Given the description of an element on the screen output the (x, y) to click on. 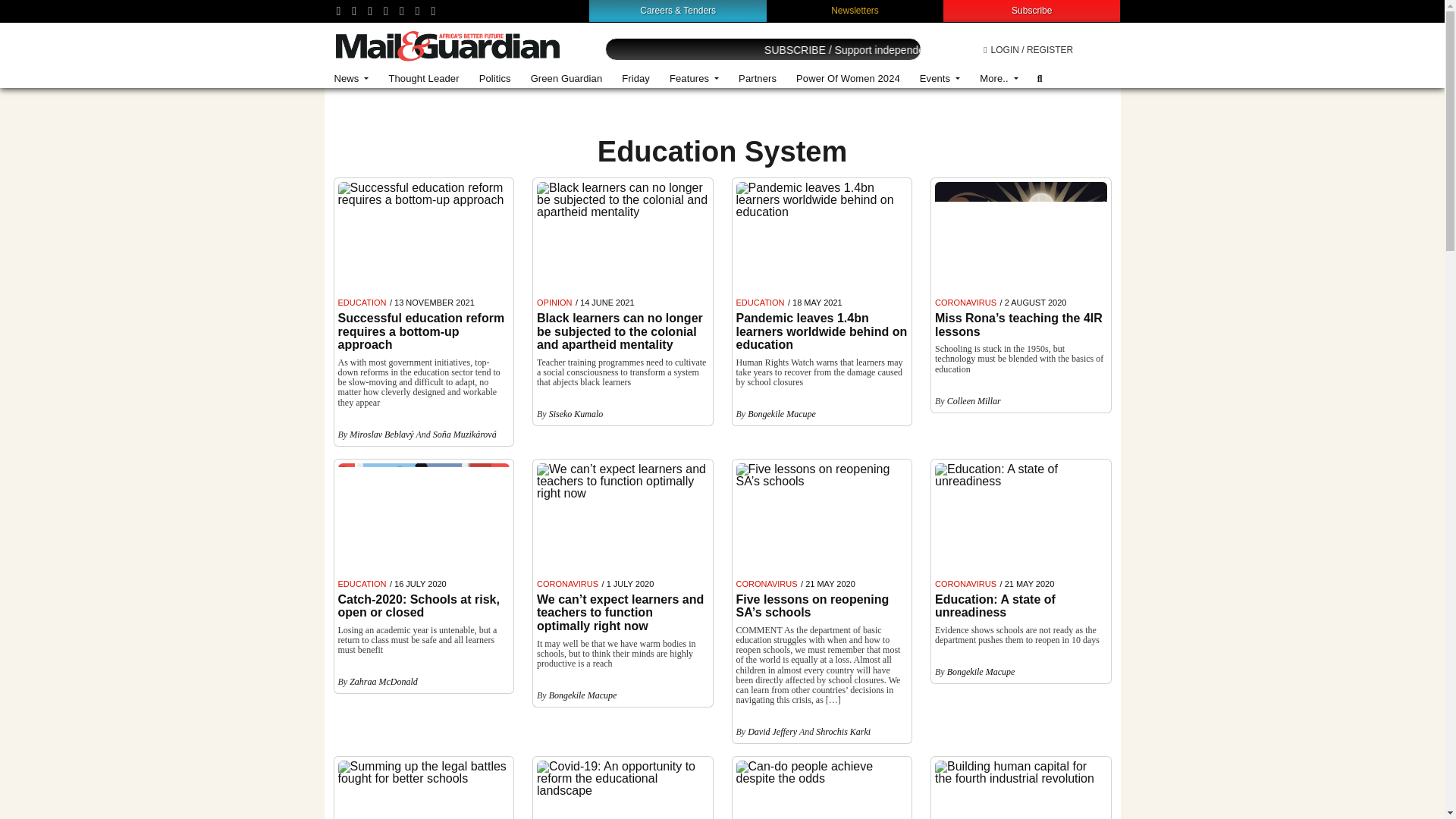
News (351, 78)
Subscribe (1031, 9)
News (351, 78)
Green Guardian (566, 78)
Newsletters (855, 9)
Friday (635, 78)
Politics (494, 78)
Thought Leader (423, 78)
